Given the description of an element on the screen output the (x, y) to click on. 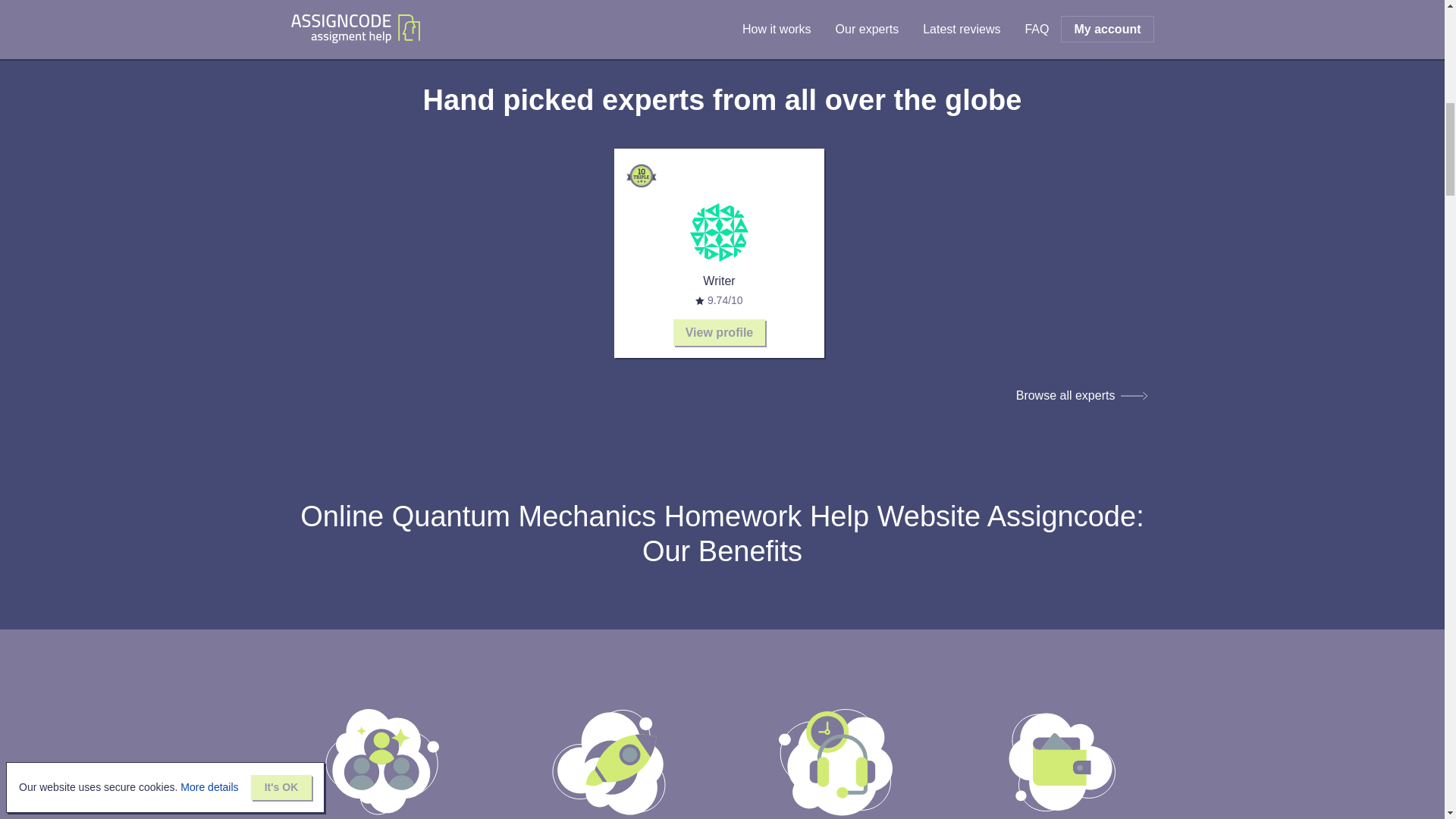
View profile (718, 332)
Browse all experts (1082, 395)
10 orders in 10 days with the rating of 10 (641, 175)
